Given the description of an element on the screen output the (x, y) to click on. 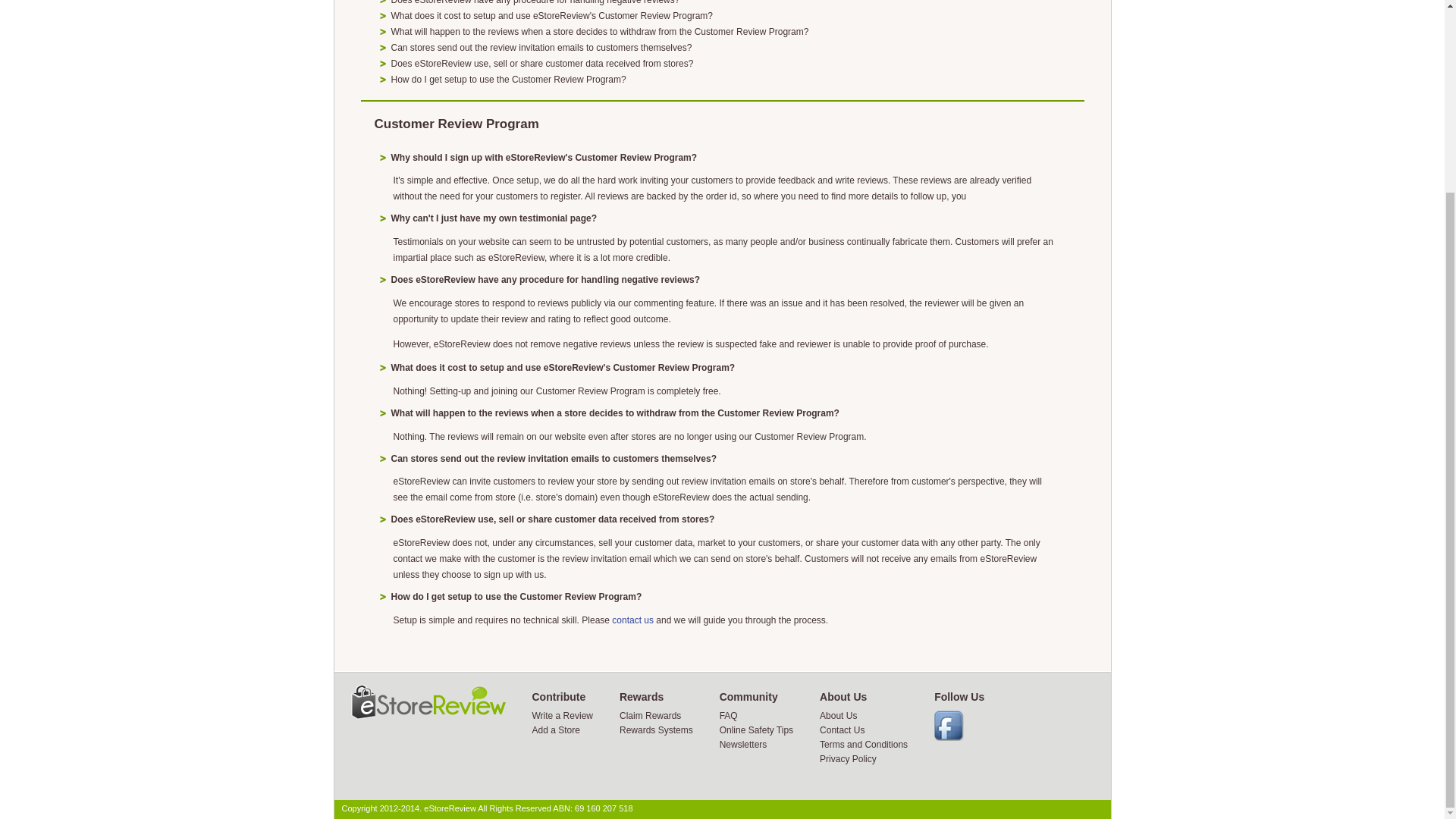
Rewards Systems (656, 729)
How do I get setup to use the Customer Review Program? (508, 79)
FAQ (728, 715)
Add a Store (555, 729)
Claim Rewards (650, 715)
contact us (632, 620)
